Given the description of an element on the screen output the (x, y) to click on. 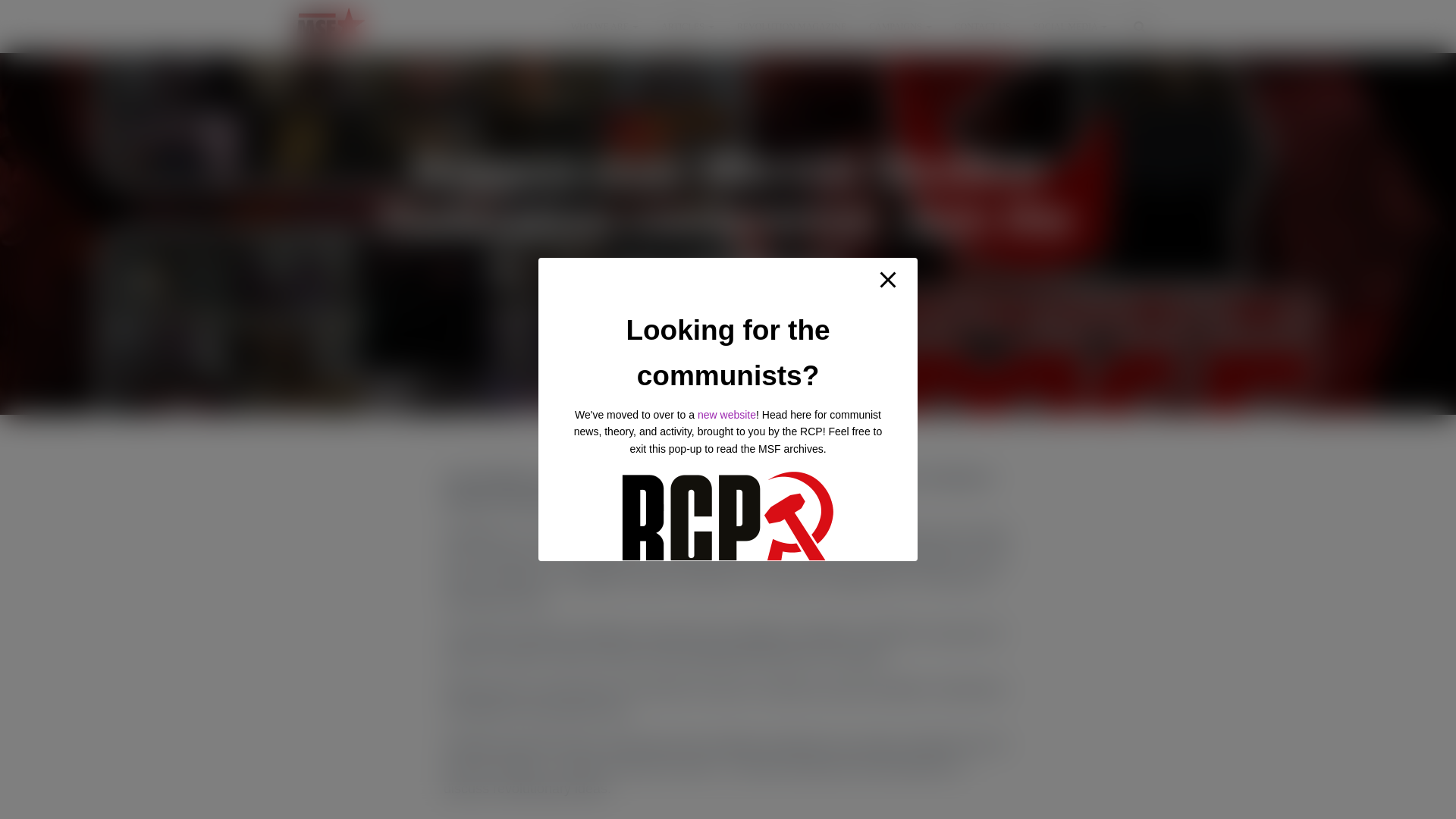
SOCIAL MEDIA (1070, 26)
CONTACT US (982, 26)
ARTICLES (687, 26)
CAMPAIGNS (900, 26)
Articles (687, 26)
WHO WE ARE (604, 26)
Who we are (604, 26)
REVOLUTION MAGAZINE (791, 26)
Marxist Student Federation (330, 26)
